Given the description of an element on the screen output the (x, y) to click on. 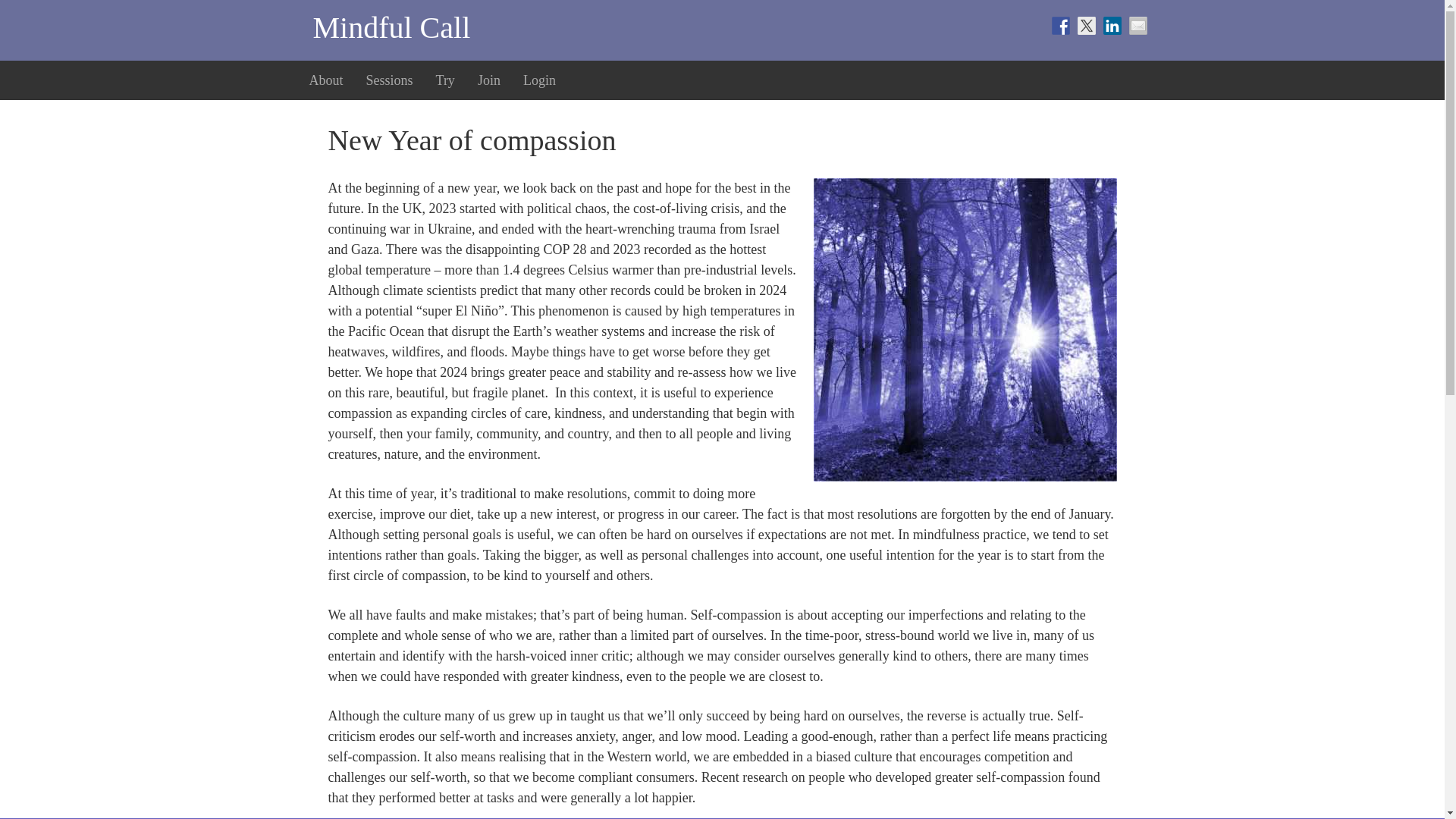
Share on Facebook (1059, 25)
Share by email (1137, 25)
Sessions (390, 79)
About (325, 79)
View all sessions by date (390, 79)
Login (539, 79)
Join (488, 79)
Try (445, 79)
Mindful Call (391, 27)
Share on Linkedin (1111, 25)
Share on Twitter (1085, 25)
